Given the description of an element on the screen output the (x, y) to click on. 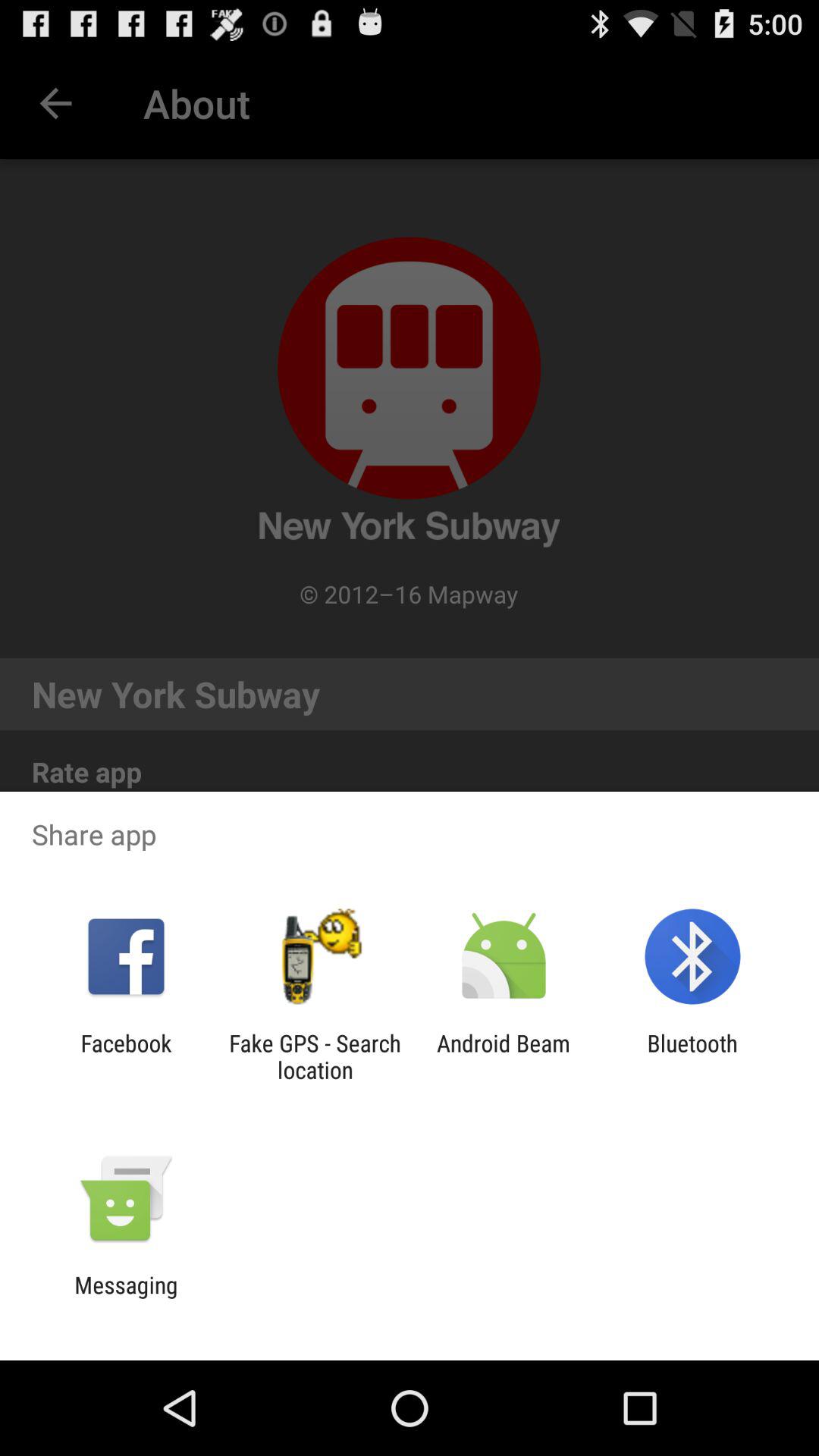
click item to the left of the android beam icon (314, 1056)
